Given the description of an element on the screen output the (x, y) to click on. 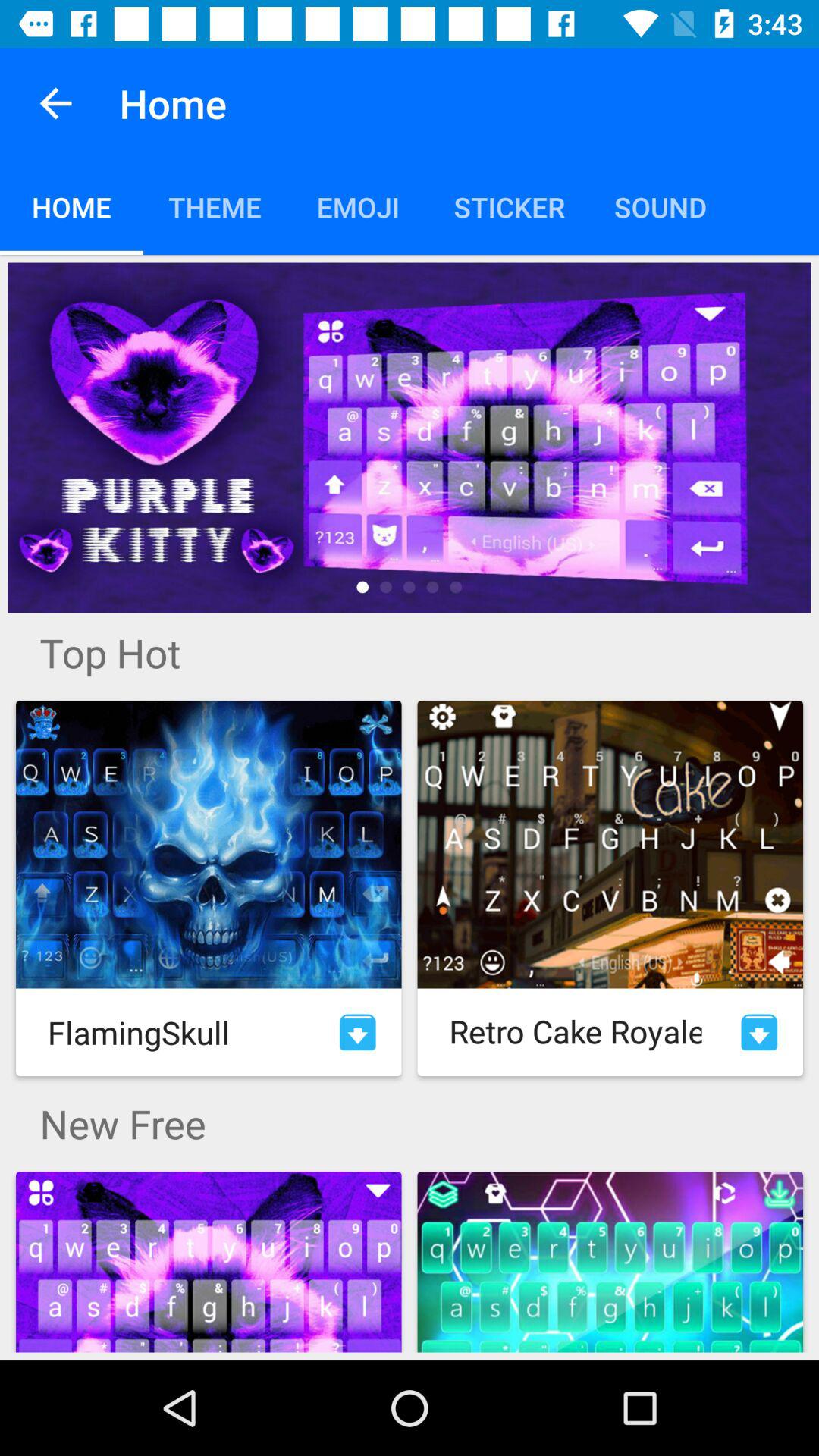
download file (357, 1032)
